Given the description of an element on the screen output the (x, y) to click on. 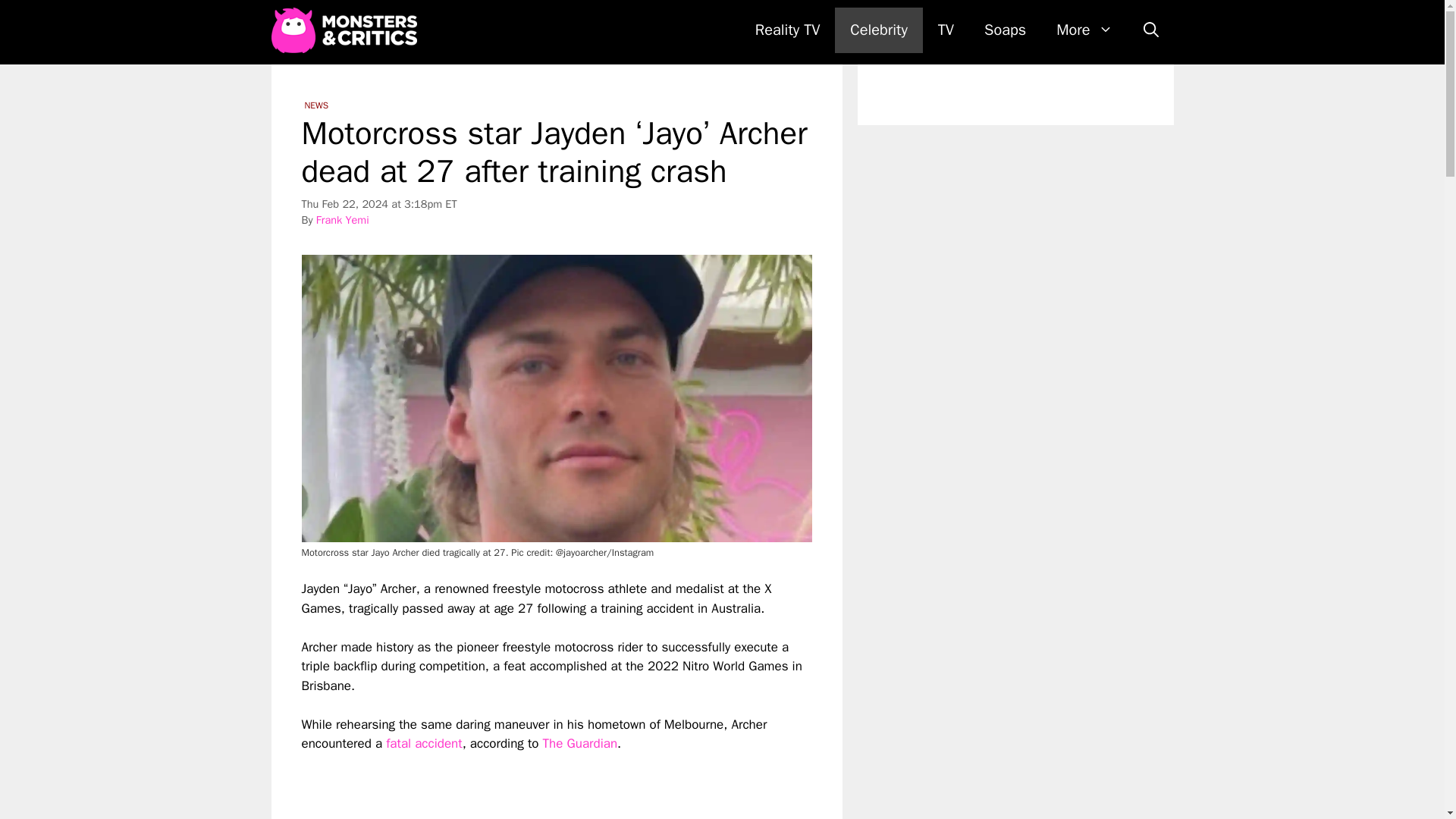
Celebrity (877, 30)
Frank Yemi (342, 219)
TV (946, 30)
View all posts by Frank Yemi (342, 219)
fatal accident (423, 743)
Monsters and Critics (343, 30)
Monsters and Critics (347, 30)
More (1083, 30)
Soaps (1005, 30)
YouTube video player (513, 786)
